Given the description of an element on the screen output the (x, y) to click on. 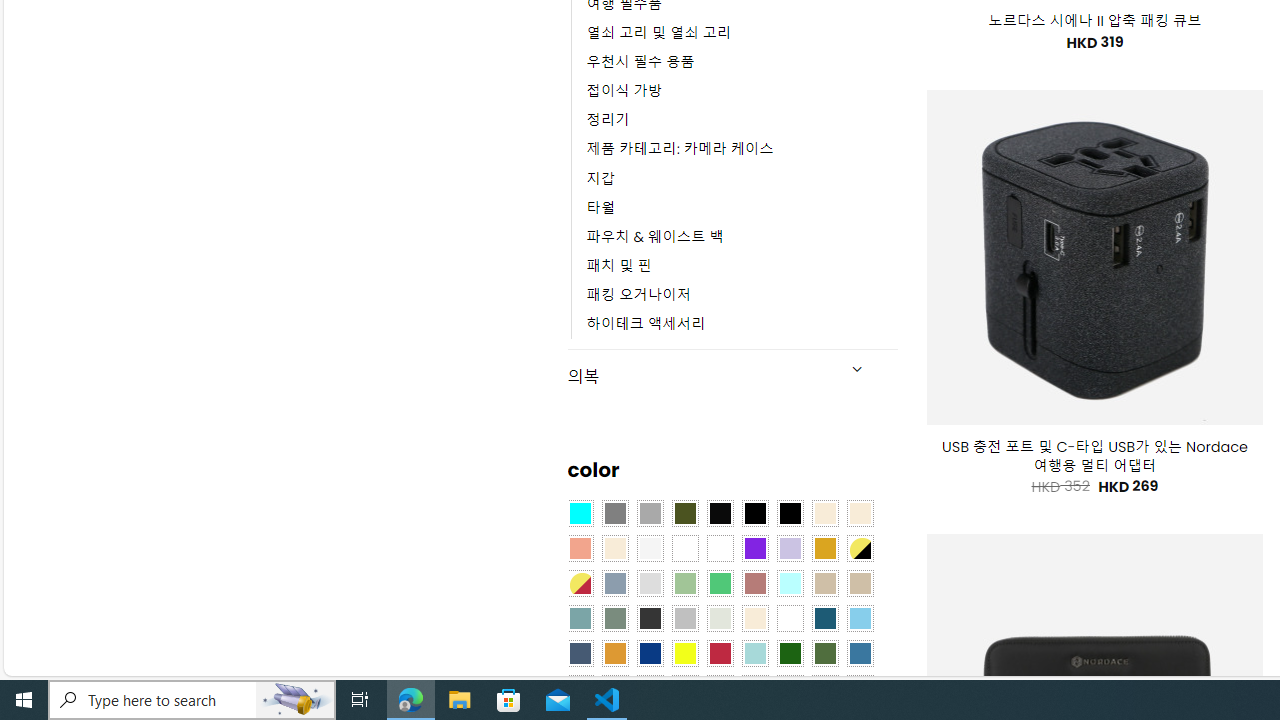
Coral (579, 548)
